Given the description of an element on the screen output the (x, y) to click on. 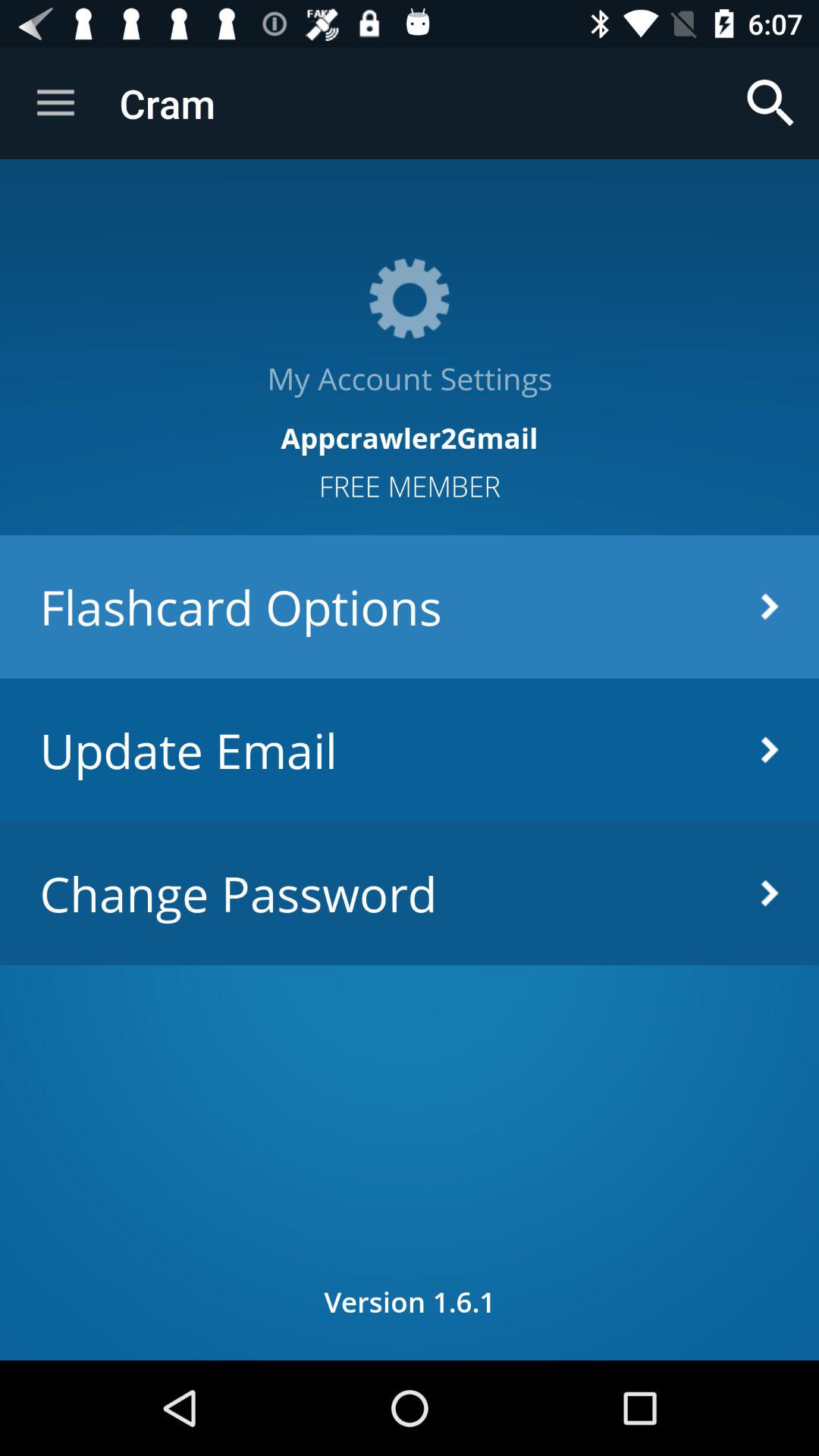
tap item next to the cram icon (55, 103)
